Given the description of an element on the screen output the (x, y) to click on. 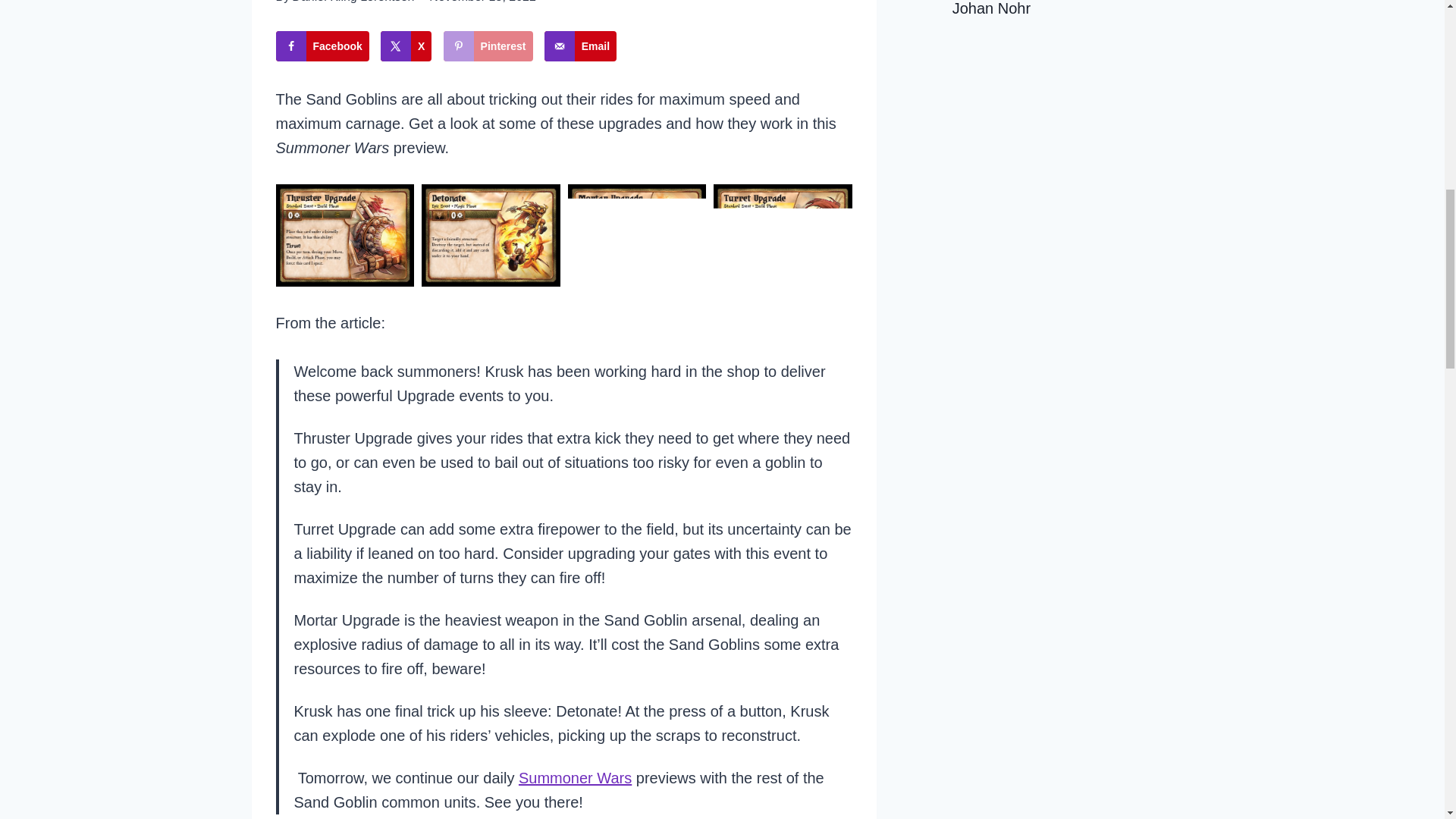
Facebook (322, 46)
X (405, 46)
Save to Pinterest (488, 46)
Share on Facebook (322, 46)
Pinterest (488, 46)
Email (579, 46)
Send over email (579, 46)
Share on X (405, 46)
Daniel Kling Lorentsen (352, 1)
